Given the description of an element on the screen output the (x, y) to click on. 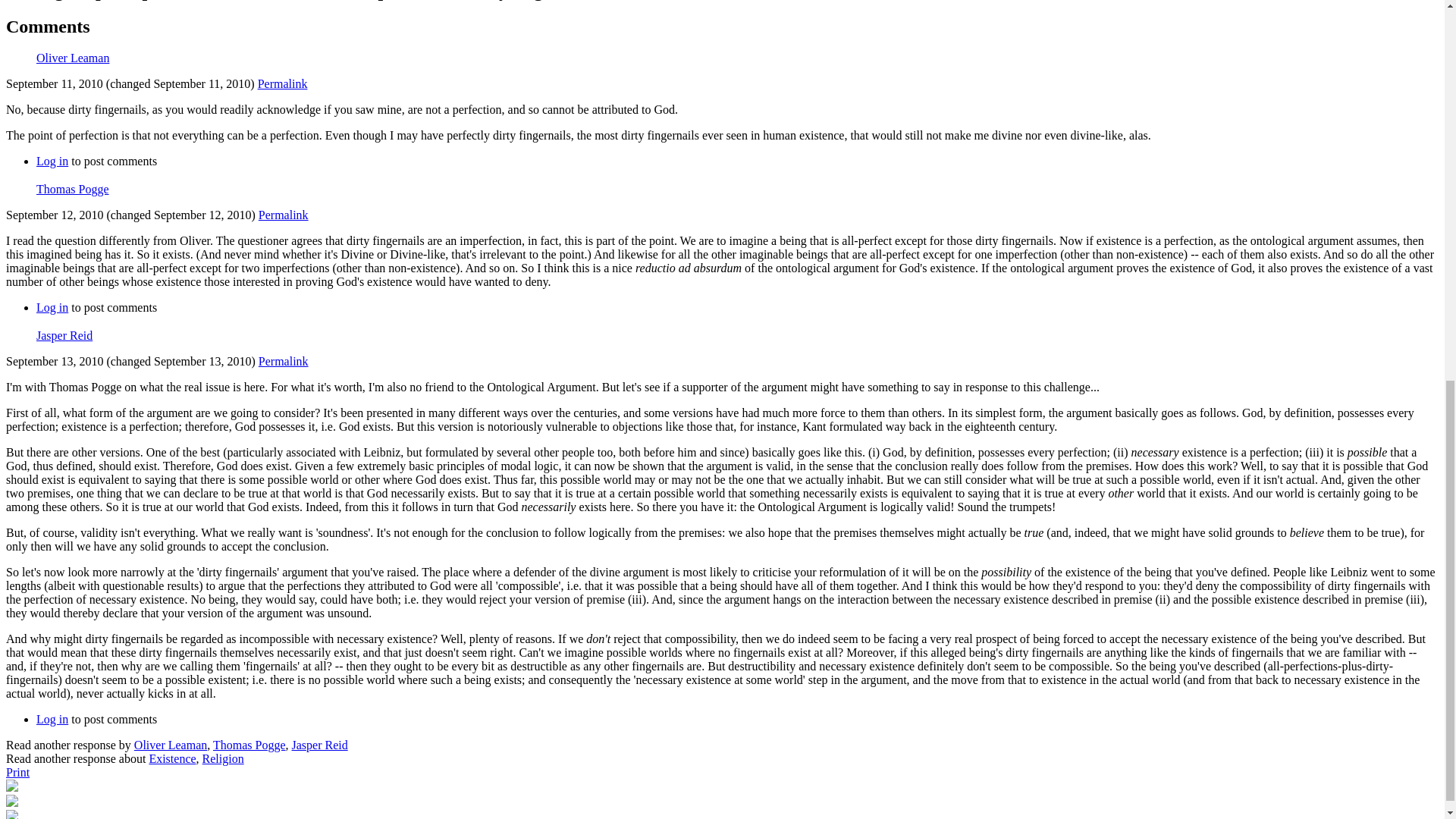
Log in (52, 718)
Log in (52, 307)
Permalink (282, 83)
Religion (223, 758)
Thomas Pogge (248, 744)
Thomas Pogge (72, 188)
Oliver Leaman (169, 744)
View user profile. (64, 335)
Permalink (283, 360)
Jasper Reid (64, 335)
